Given the description of an element on the screen output the (x, y) to click on. 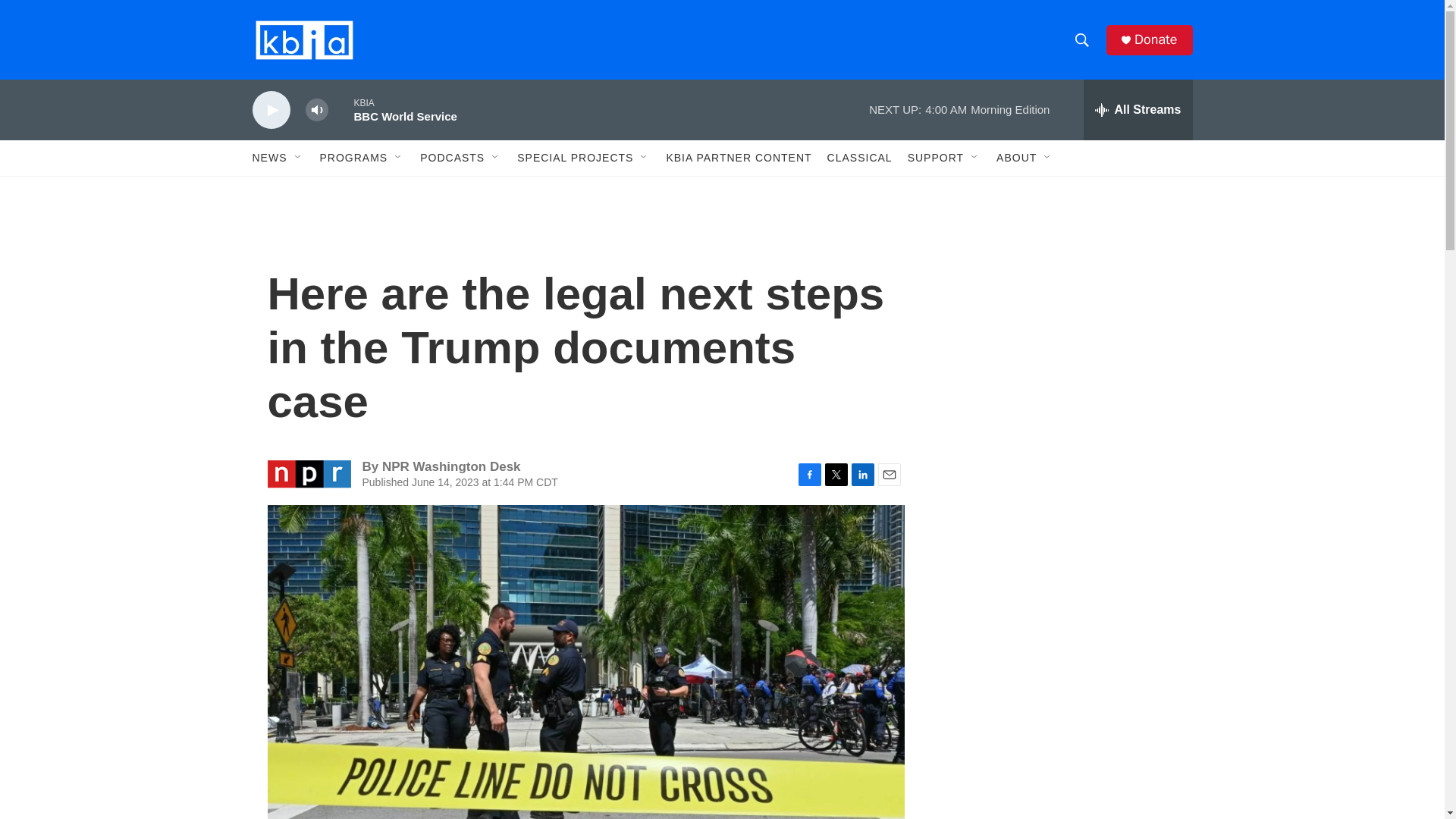
3rd party ad content (1062, 536)
3rd party ad content (1062, 316)
3rd party ad content (1062, 740)
